Given the description of an element on the screen output the (x, y) to click on. 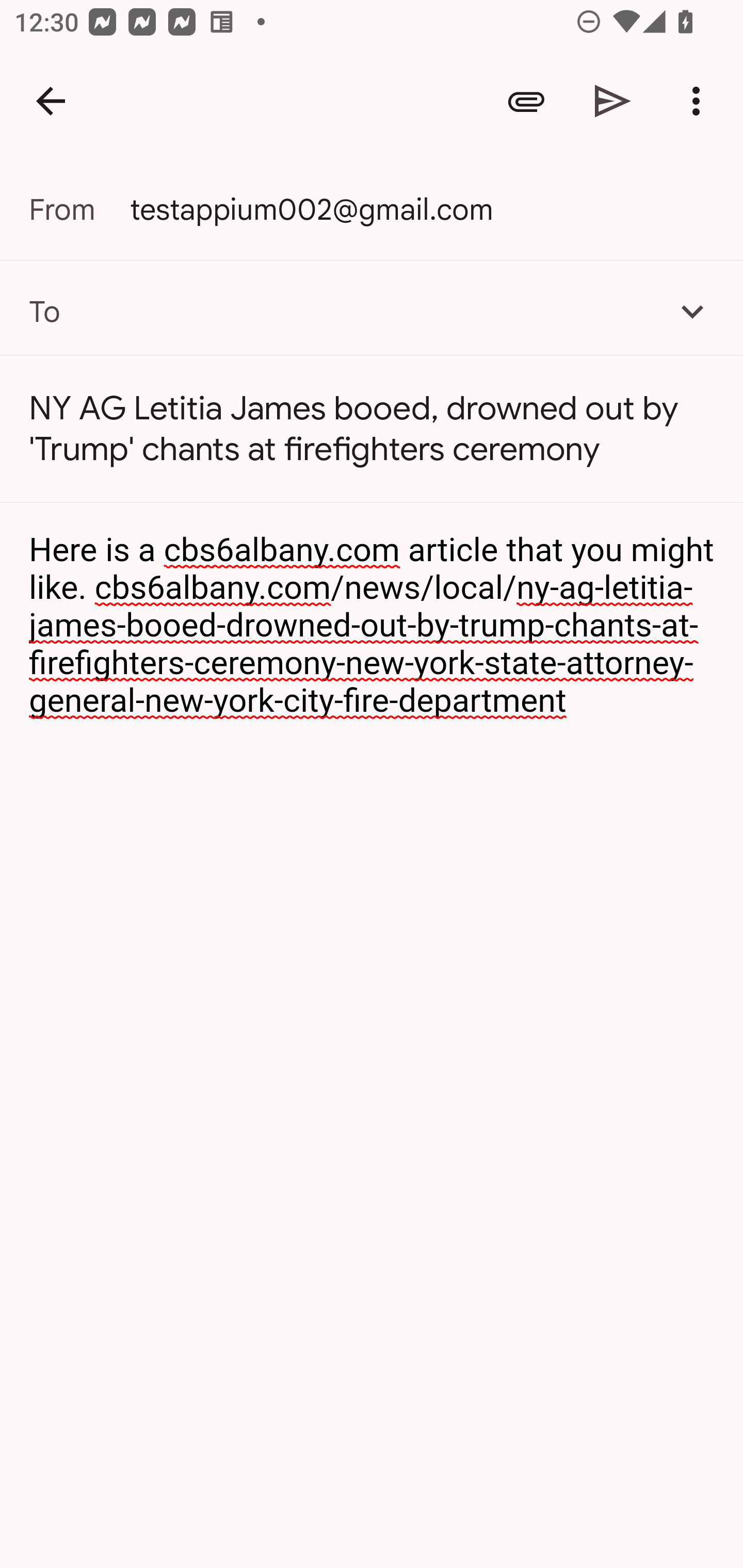
Navigate up (50, 101)
Attach file (525, 101)
Send (612, 101)
More options (699, 101)
From (79, 209)
Add Cc/Bcc (692, 311)
